Given the description of an element on the screen output the (x, y) to click on. 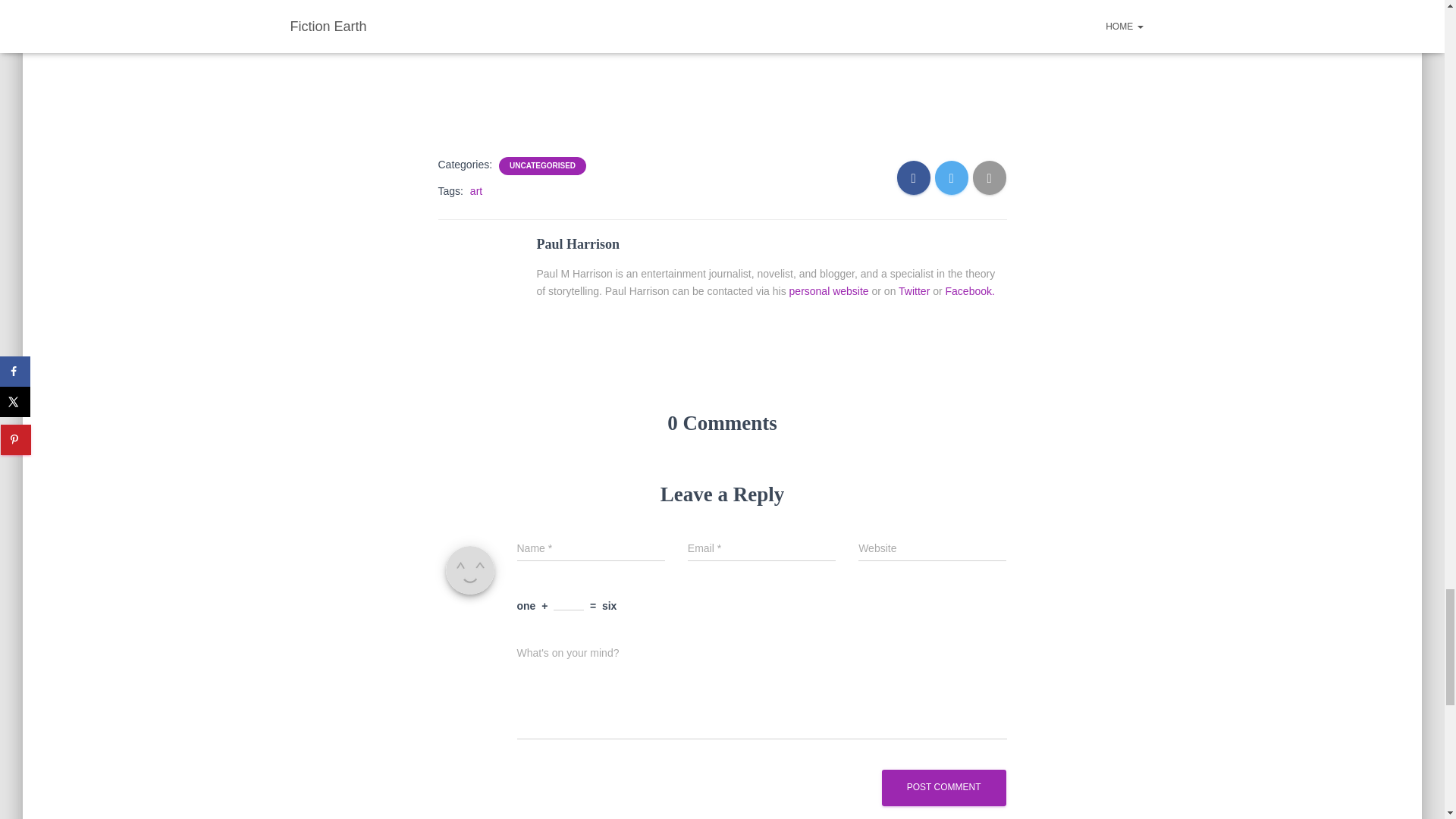
Facebook. (969, 291)
UNCATEGORISED (542, 165)
Post Comment (944, 787)
Twitter (915, 291)
art (475, 191)
personal website (830, 291)
Post Comment (944, 787)
